Given the description of an element on the screen output the (x, y) to click on. 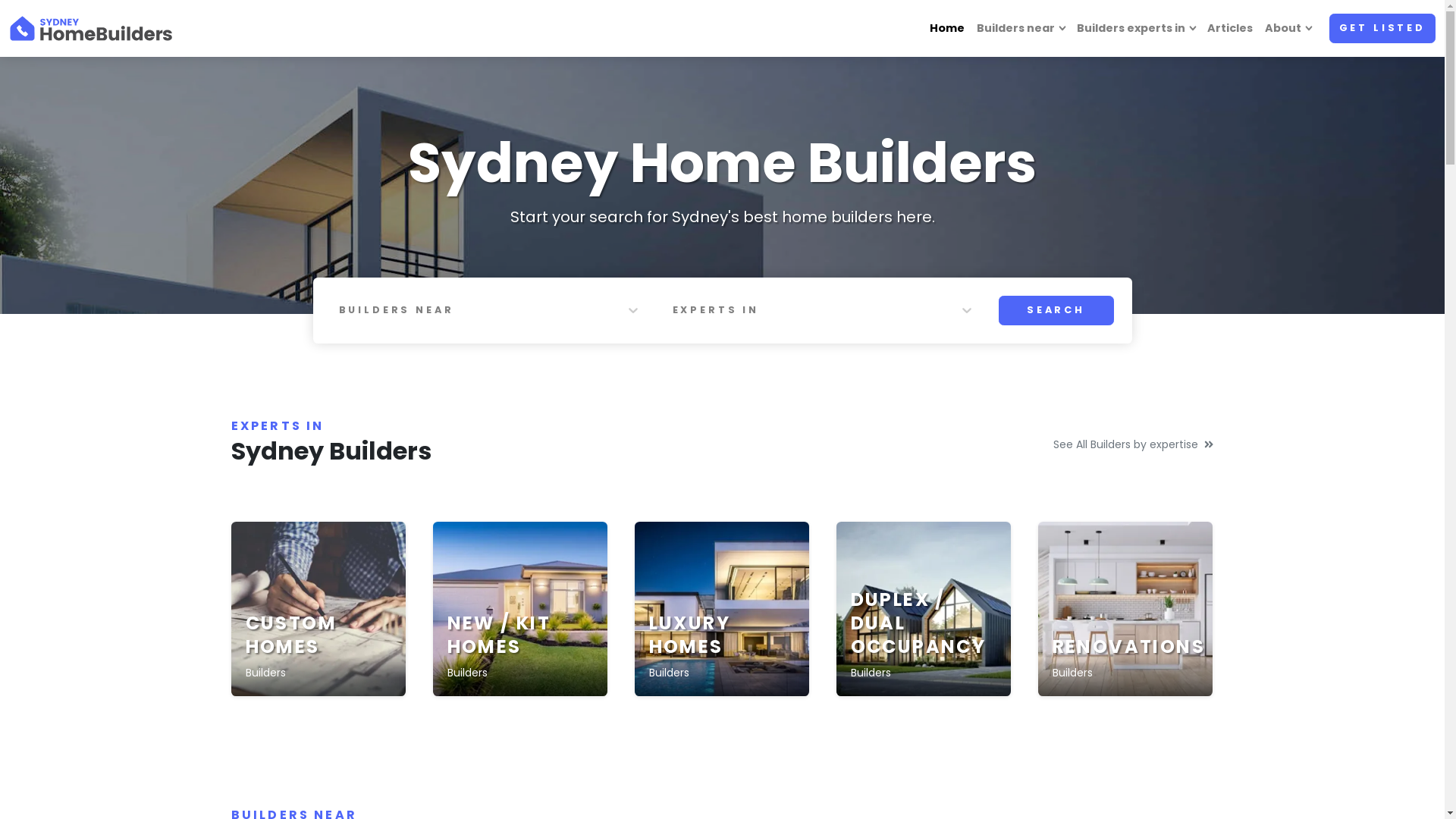
Home Element type: text (946, 28)
Builders experts in Element type: text (1135, 28)
SEARCH Element type: text (1055, 310)
About Element type: text (1287, 28)
See All Builders by expertise Element type: text (1133, 444)
GET LISTED Element type: text (1382, 28)
Builders near Element type: text (1020, 28)
Articles Element type: text (1229, 28)
